Given the description of an element on the screen output the (x, y) to click on. 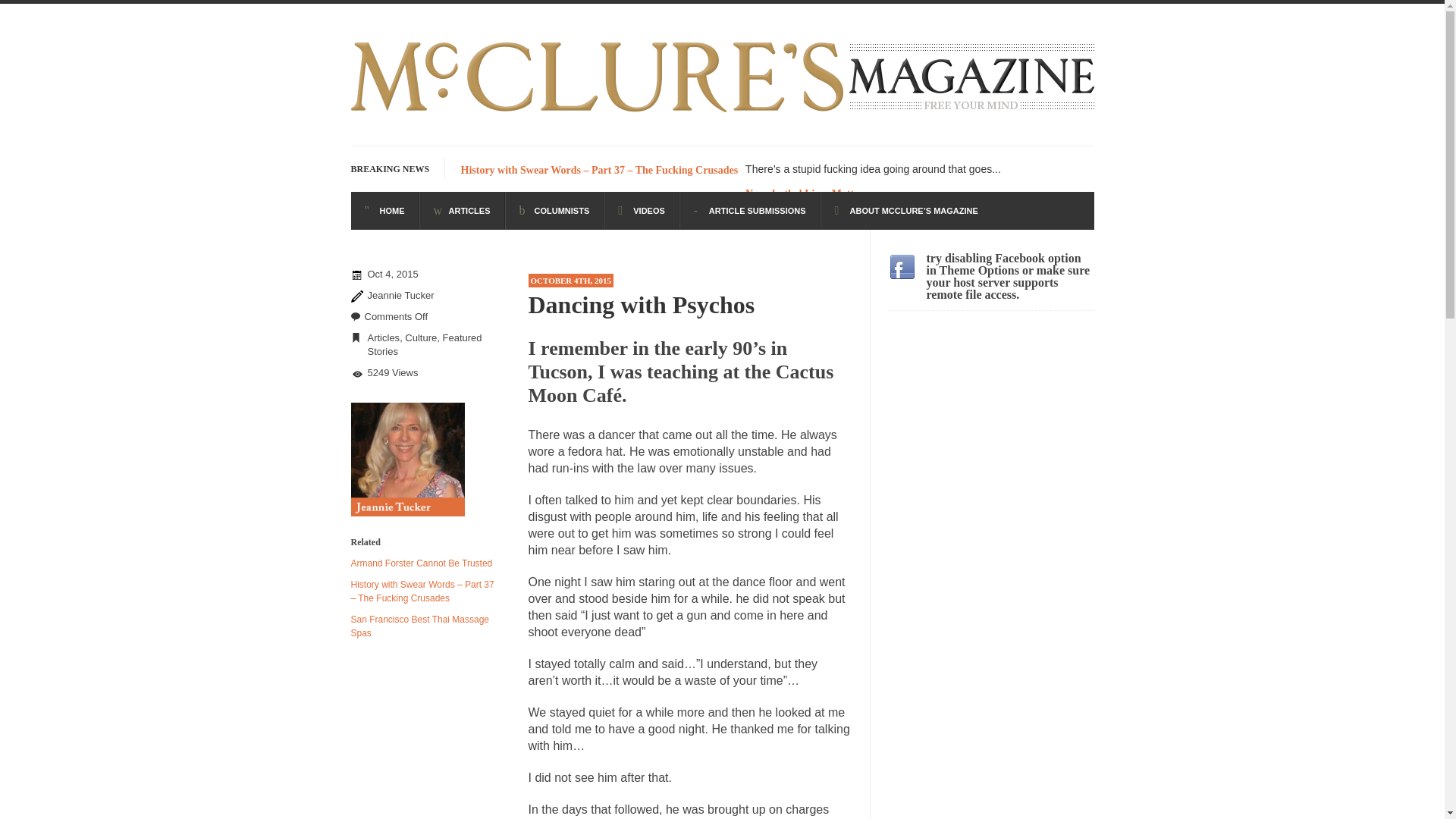
San Francisco Best Thai Massage Spas (419, 626)
Neanderthal Lives Matter (804, 193)
Armand Forster Cannot Be Trusted (421, 562)
McClure's Magazine (721, 114)
